Given the description of an element on the screen output the (x, y) to click on. 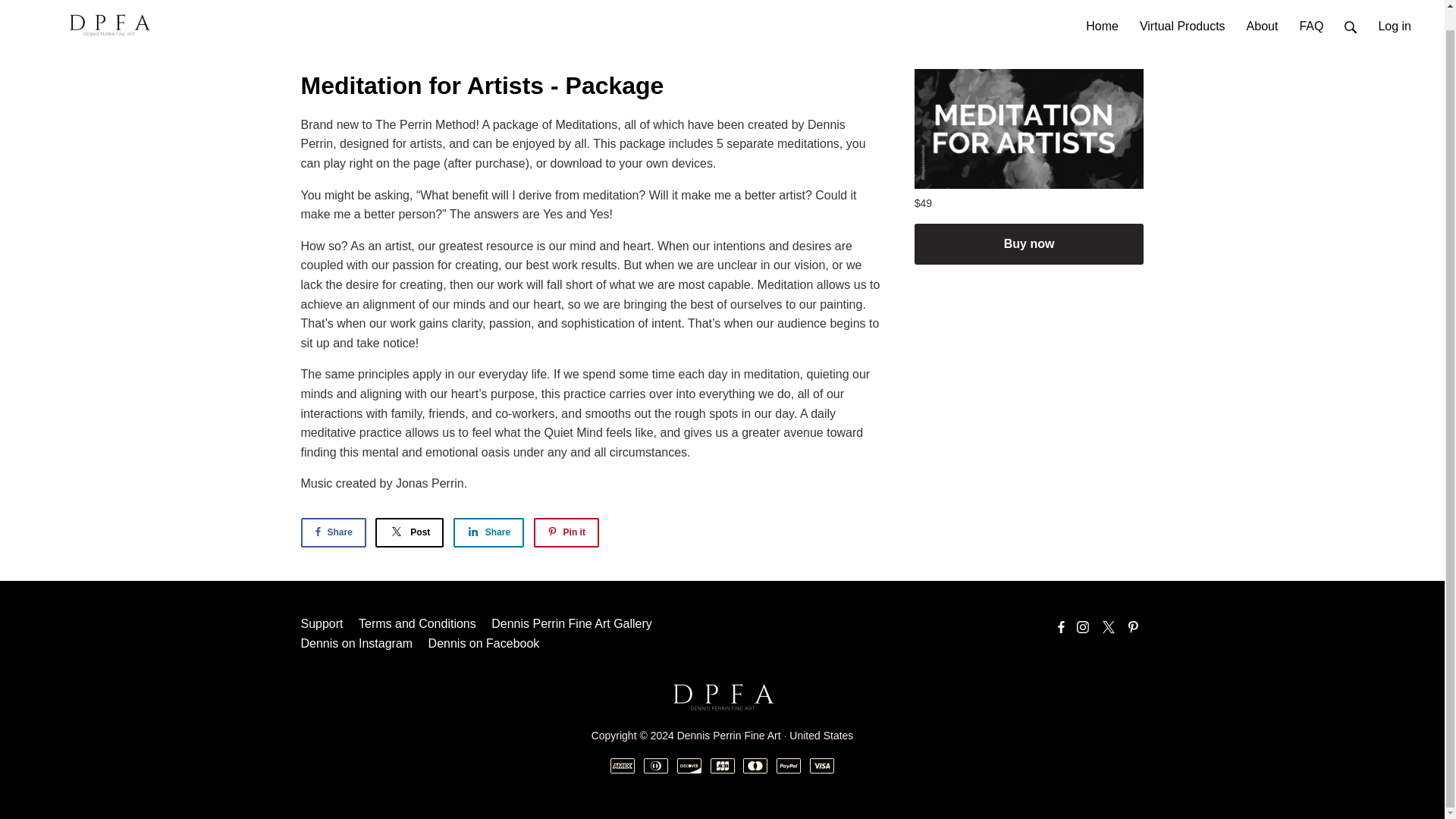
Pin on Pinterest (566, 532)
Pin it (566, 532)
Buy now (1029, 243)
Share on LinkedIn (488, 532)
FAQ (1310, 10)
Terms and Conditions (417, 623)
Post (409, 532)
Dennis on Facebook (484, 643)
Share (332, 532)
Home (1102, 10)
